Given the description of an element on the screen output the (x, y) to click on. 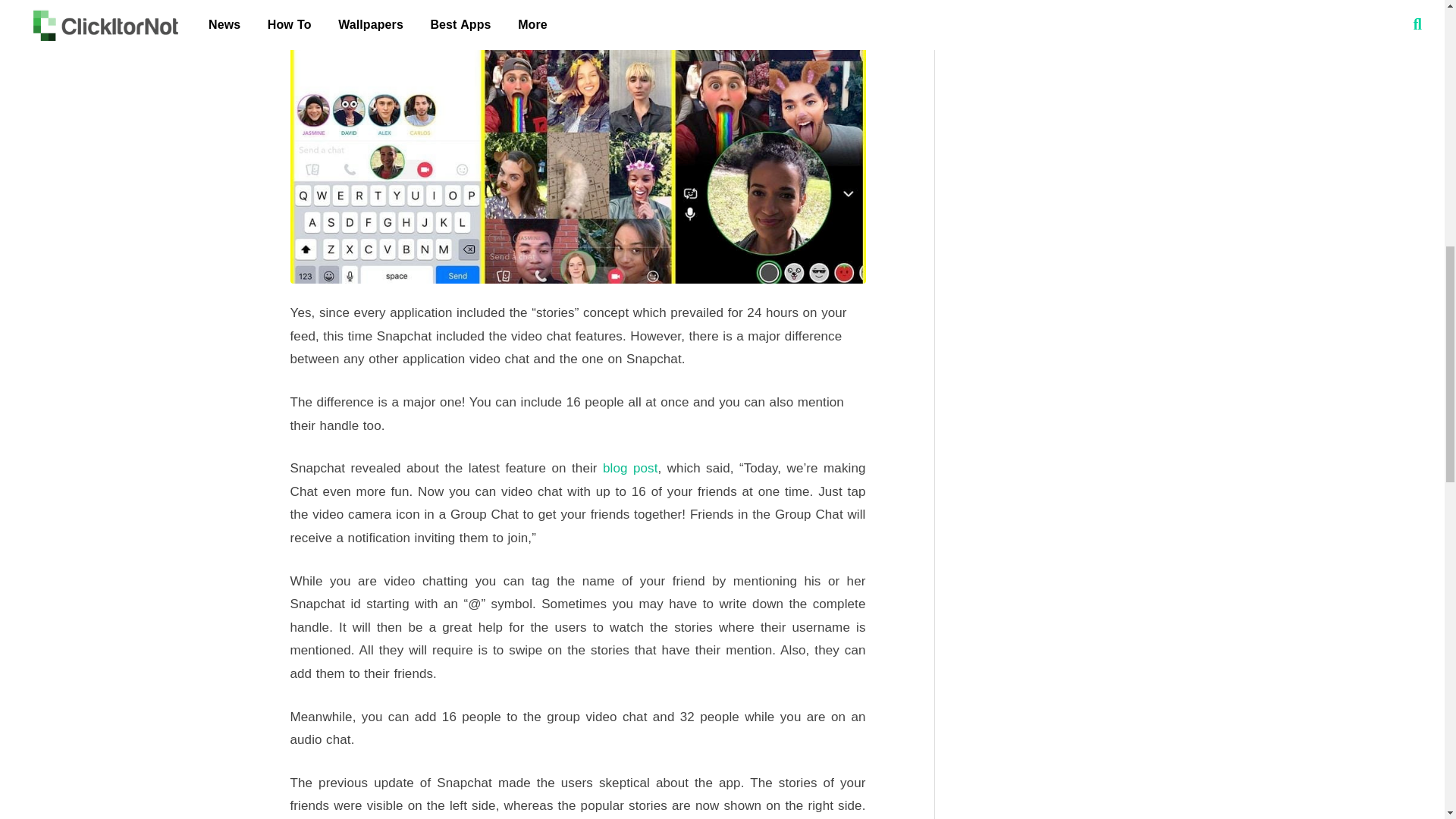
blog post (627, 468)
